Given the description of an element on the screen output the (x, y) to click on. 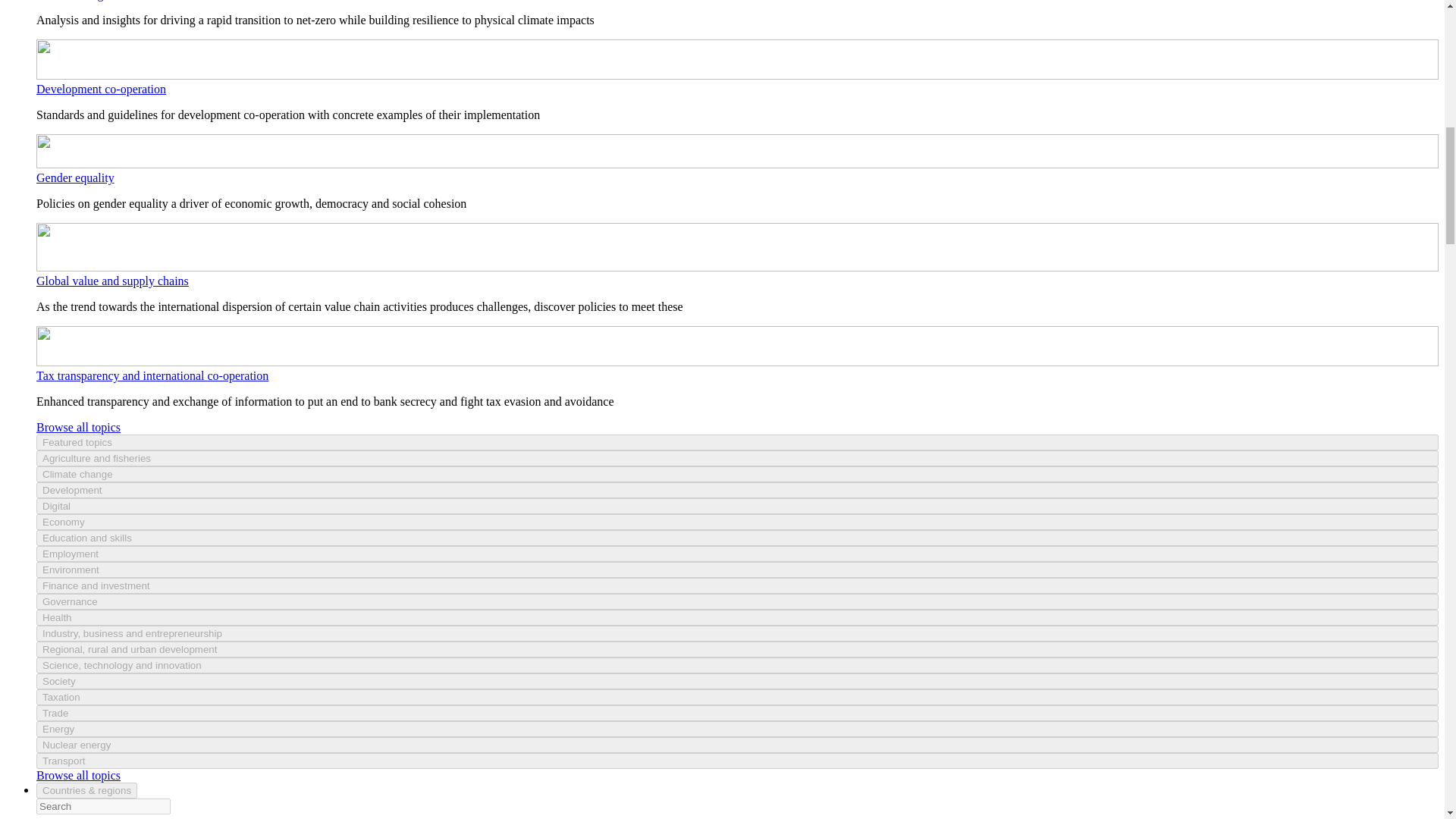
Global value and supply chains (112, 280)
Gender equality (75, 177)
Development co-operation (100, 88)
Tax transparency and international co-operation (151, 375)
